Given the description of an element on the screen output the (x, y) to click on. 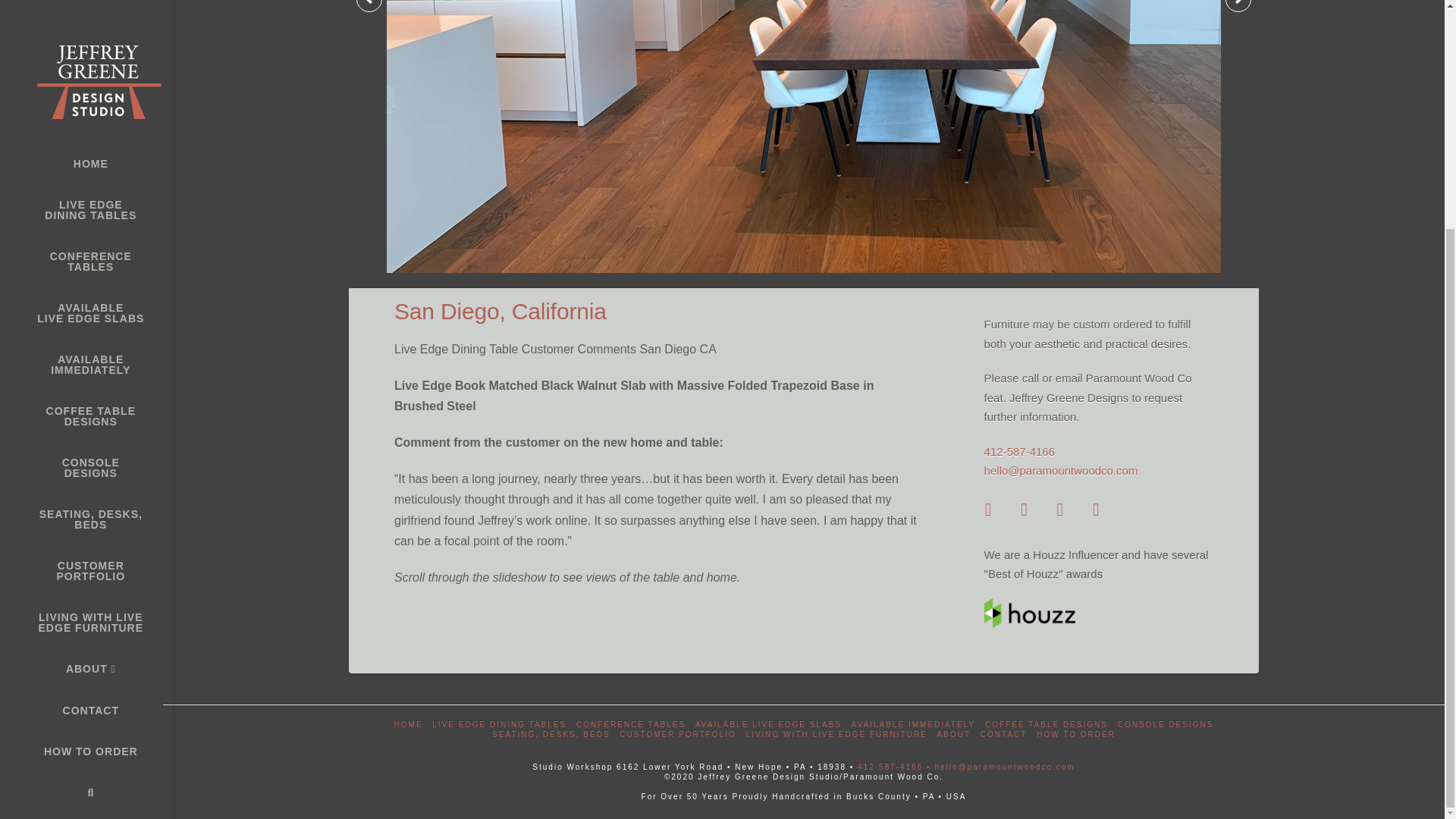
ABOUT (86, 360)
CONTACT (86, 401)
AVAILABLE IMMEDIATELY (86, 55)
412-587-4166 (1019, 451)
LIVING WITH LIVE EDGE FURNITURE (86, 313)
CUSTOMER PORTFOLIO (86, 262)
CONSOLE DESIGNS (86, 159)
SEATING, DESKS, BEDS (86, 210)
COFFEE TABLE DESIGNS (86, 107)
